Given the description of an element on the screen output the (x, y) to click on. 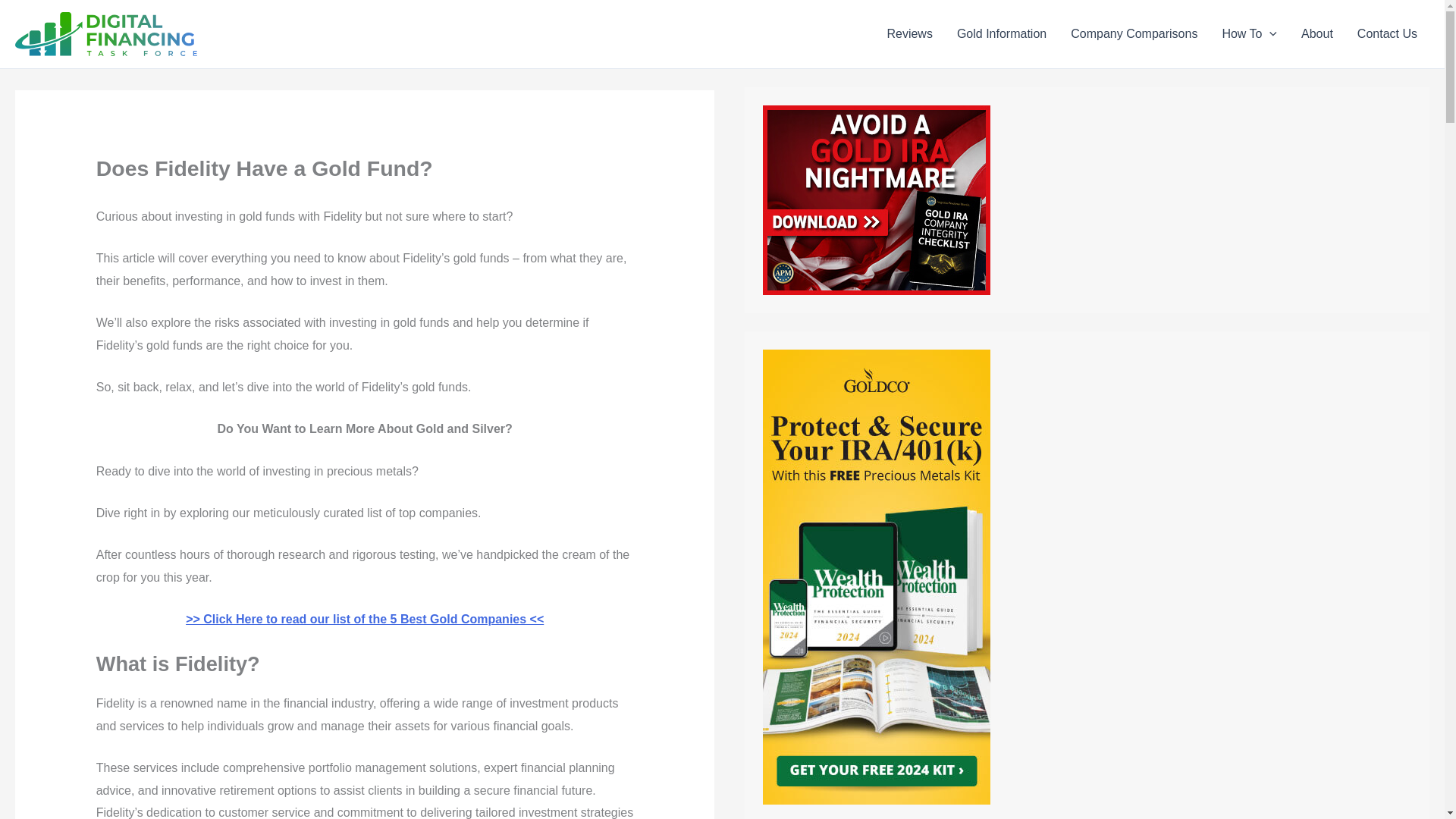
Company Comparisons (1133, 34)
Gold Information (1001, 34)
About (1316, 34)
How To (1248, 34)
Reviews (909, 34)
Contact Us (1387, 34)
